Given the description of an element on the screen output the (x, y) to click on. 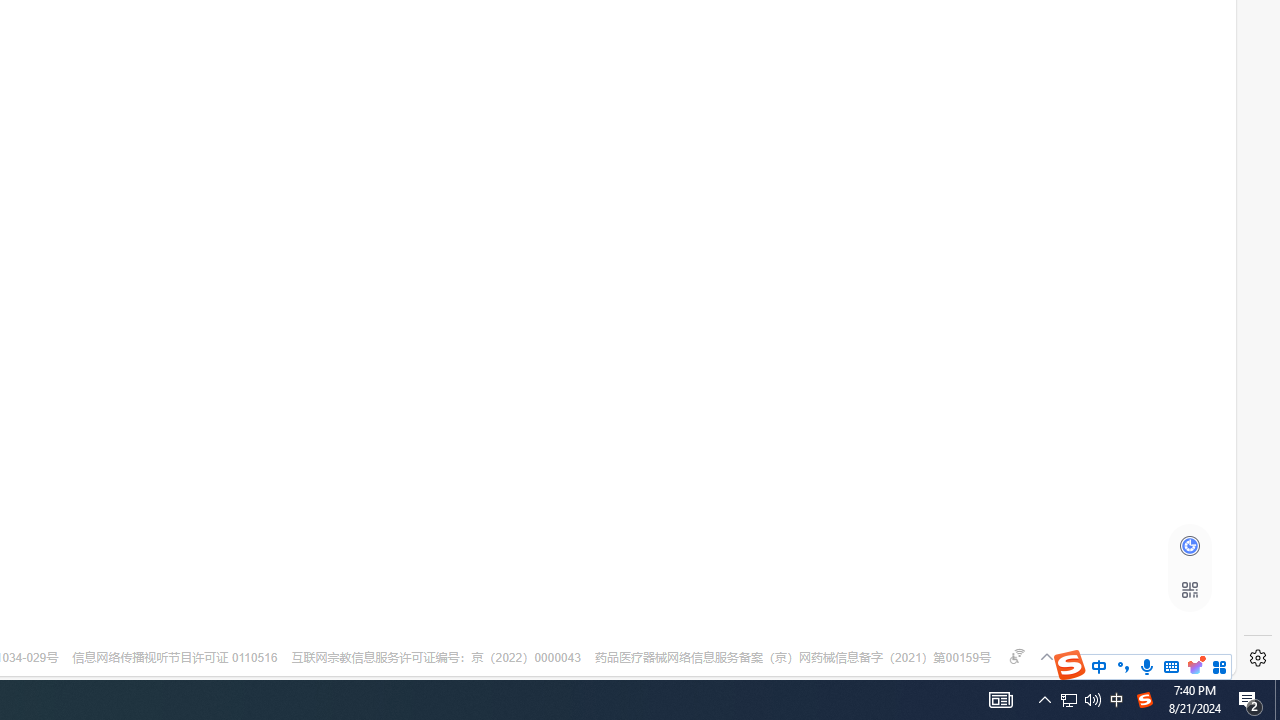
Class: icon (1189, 589)
